Given the description of an element on the screen output the (x, y) to click on. 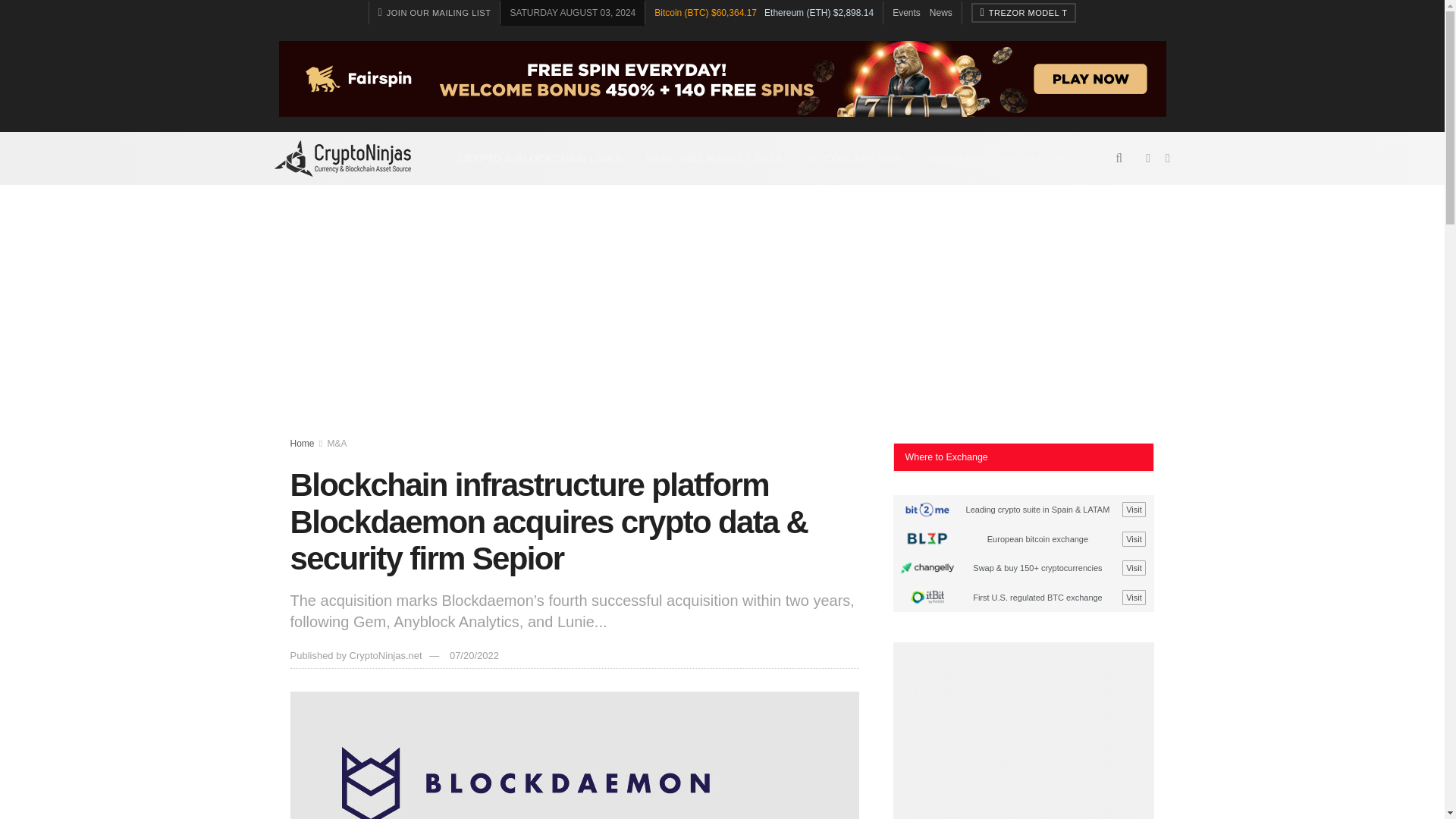
JOIN OUR MAILING LIST (435, 12)
Events (906, 12)
TREZOR MODEL T (1024, 12)
BITCOIN ATM MAP (854, 158)
3rd party ad content (1023, 738)
Home (301, 443)
REAL-TIME MARKET DATA (713, 158)
